Given the description of an element on the screen output the (x, y) to click on. 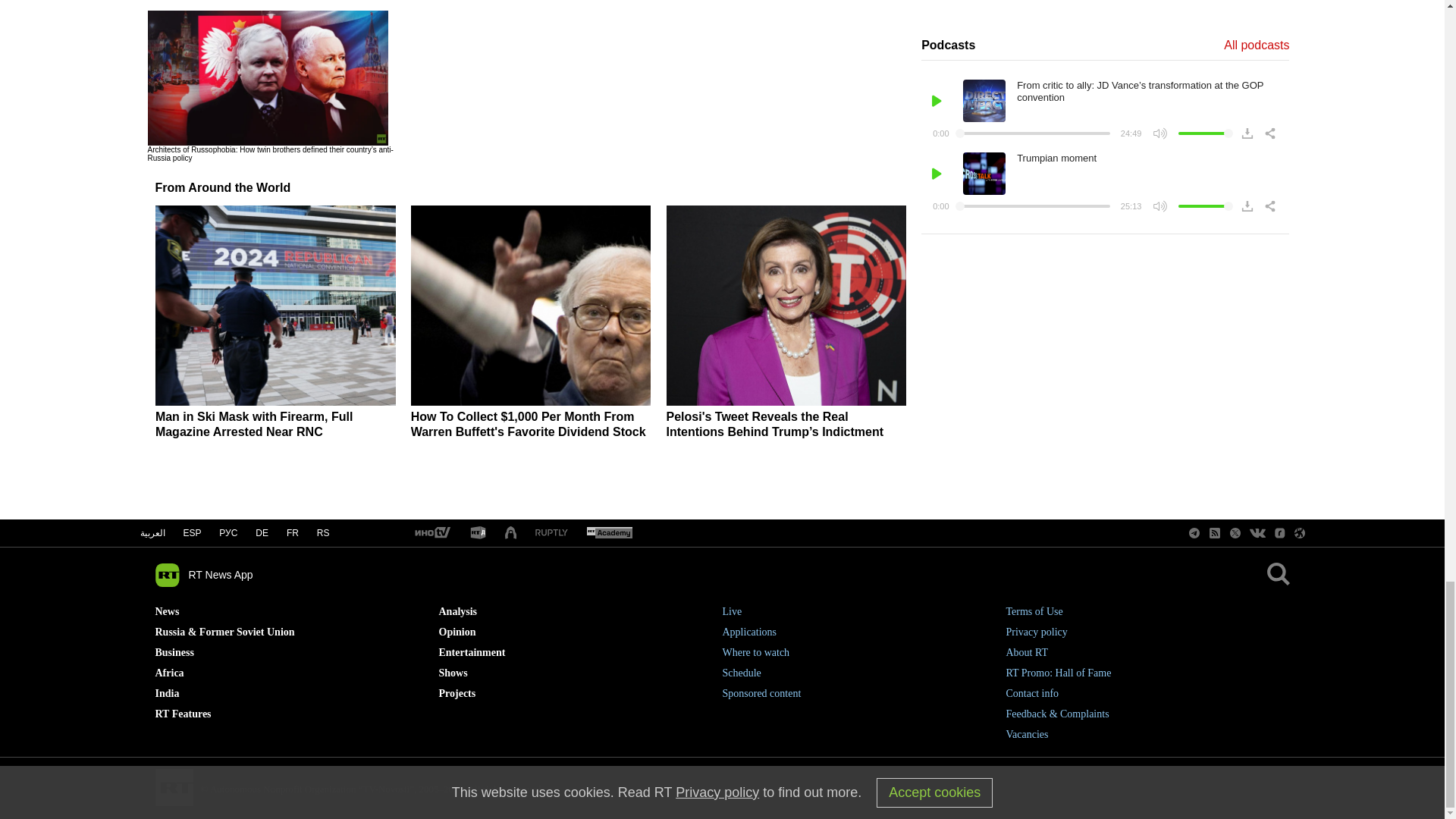
RT  (551, 533)
RT  (510, 533)
RT  (431, 533)
RT  (608, 533)
RT  (478, 533)
